Given the description of an element on the screen output the (x, y) to click on. 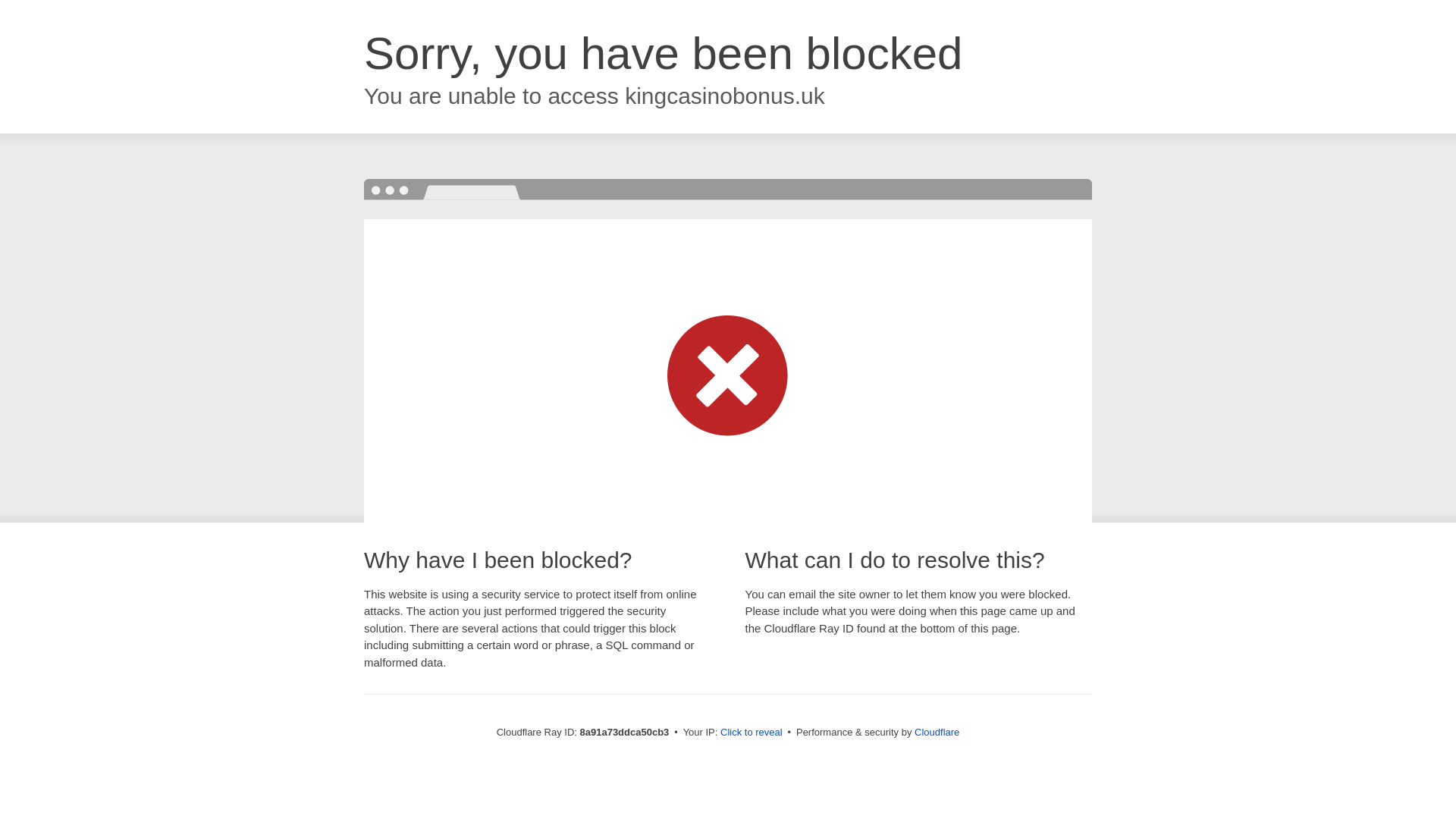
Click to reveal (751, 732)
Cloudflare (936, 731)
